Given the description of an element on the screen output the (x, y) to click on. 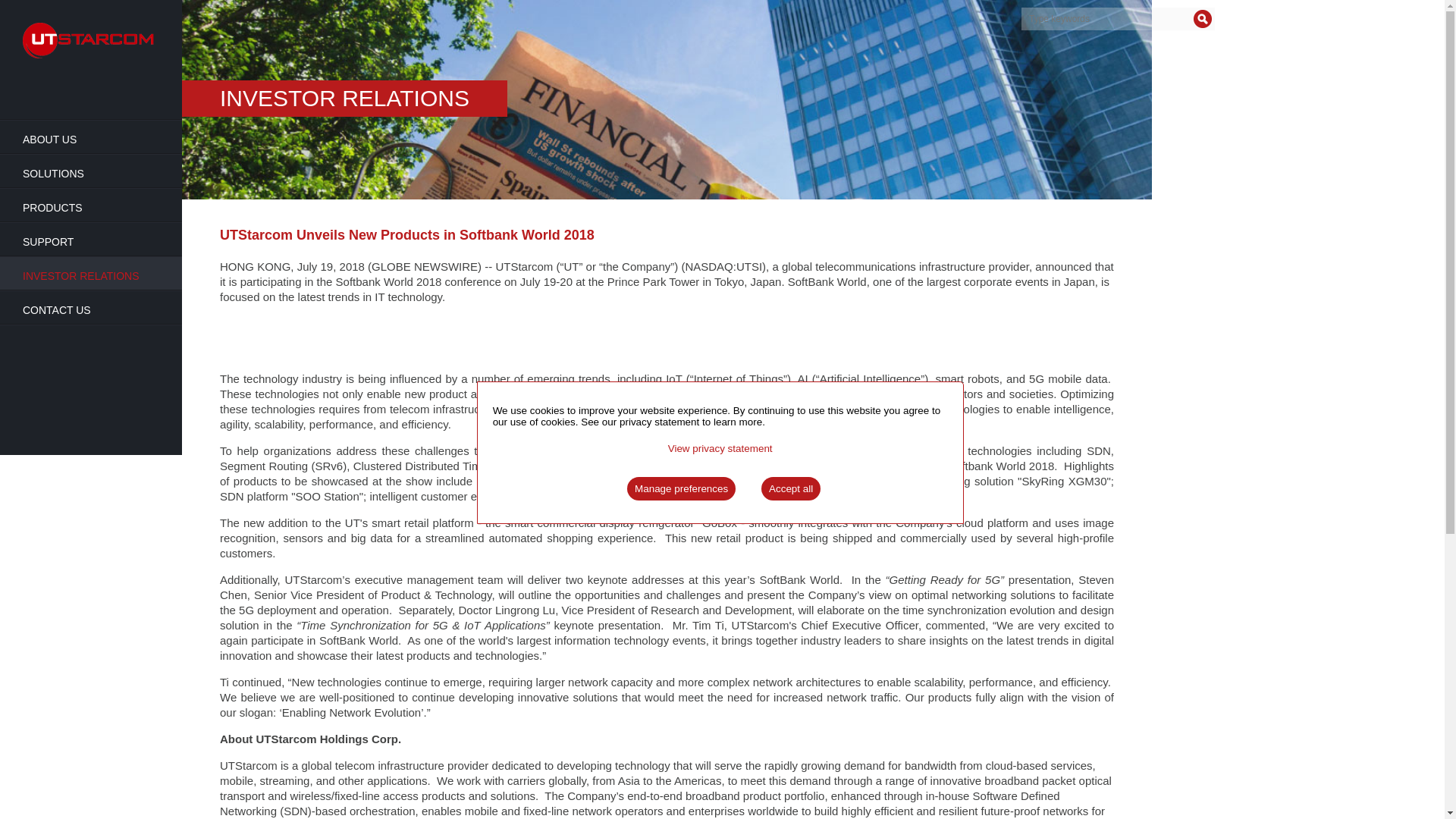
SOLUTIONS (91, 170)
Search (1202, 18)
SUPPORT (91, 238)
Enter the terms you wish to search for. (1118, 18)
ABOUT US (91, 136)
INVESTOR RELATIONS (91, 272)
PRODUCTS (91, 204)
CONTACT US (91, 307)
Search (1202, 18)
